Given the description of an element on the screen output the (x, y) to click on. 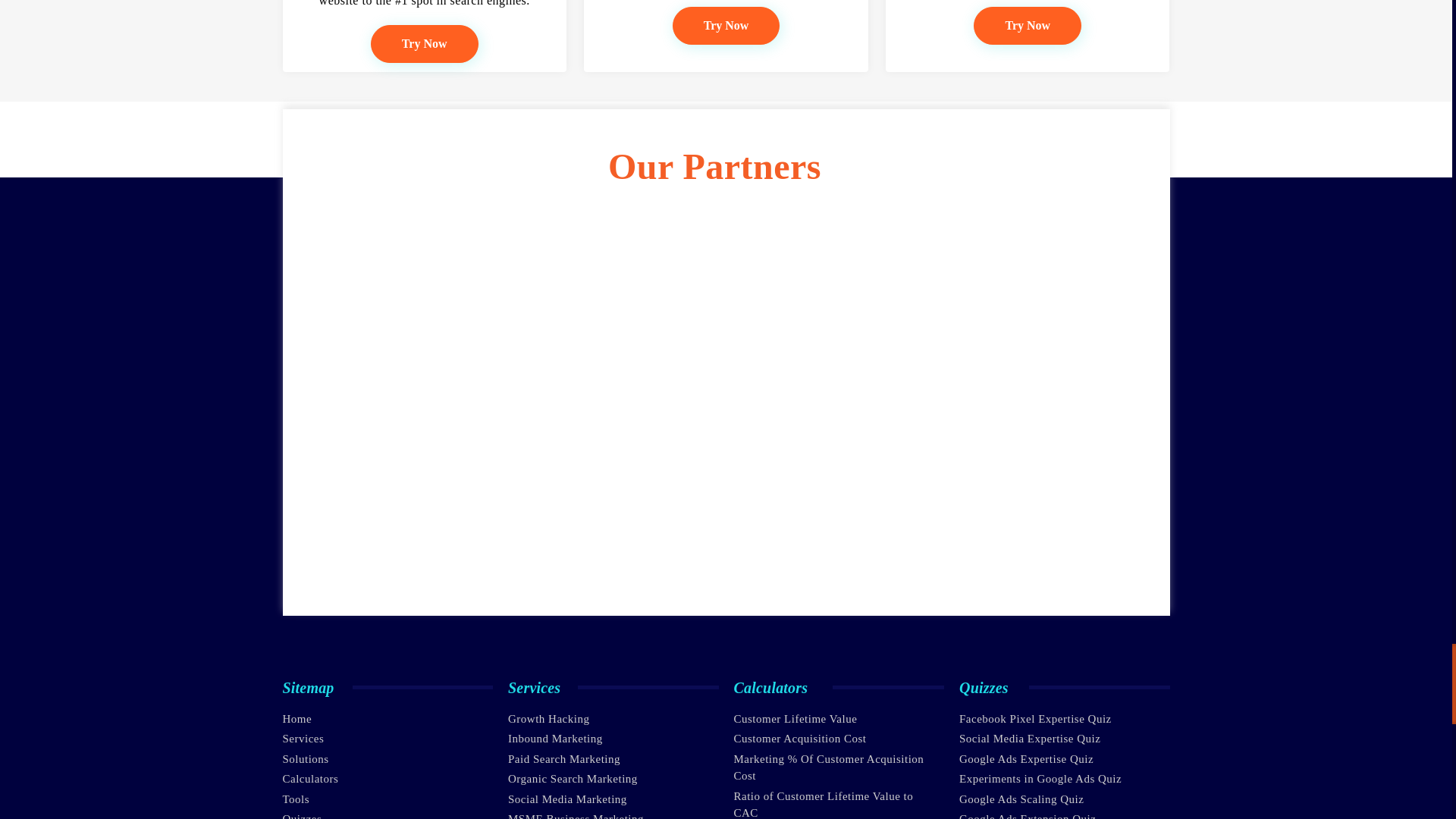
Solutions (305, 758)
Services (302, 738)
Try Now (726, 25)
Try Now (1027, 25)
Quizzes (301, 816)
Tools (295, 799)
Calculators (309, 778)
Home (296, 718)
Try Now (425, 44)
